Given the description of an element on the screen output the (x, y) to click on. 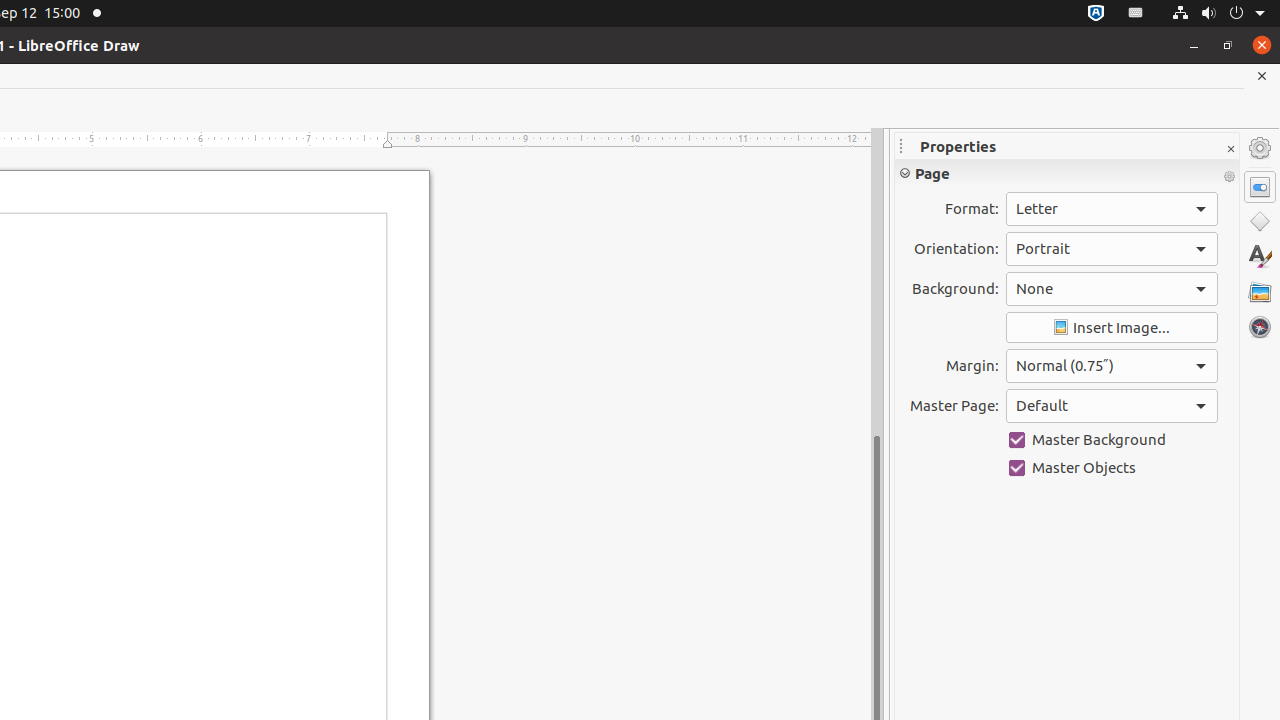
Navigator Element type: radio-button (1260, 327)
System Element type: menu (1218, 13)
